Given the description of an element on the screen output the (x, y) to click on. 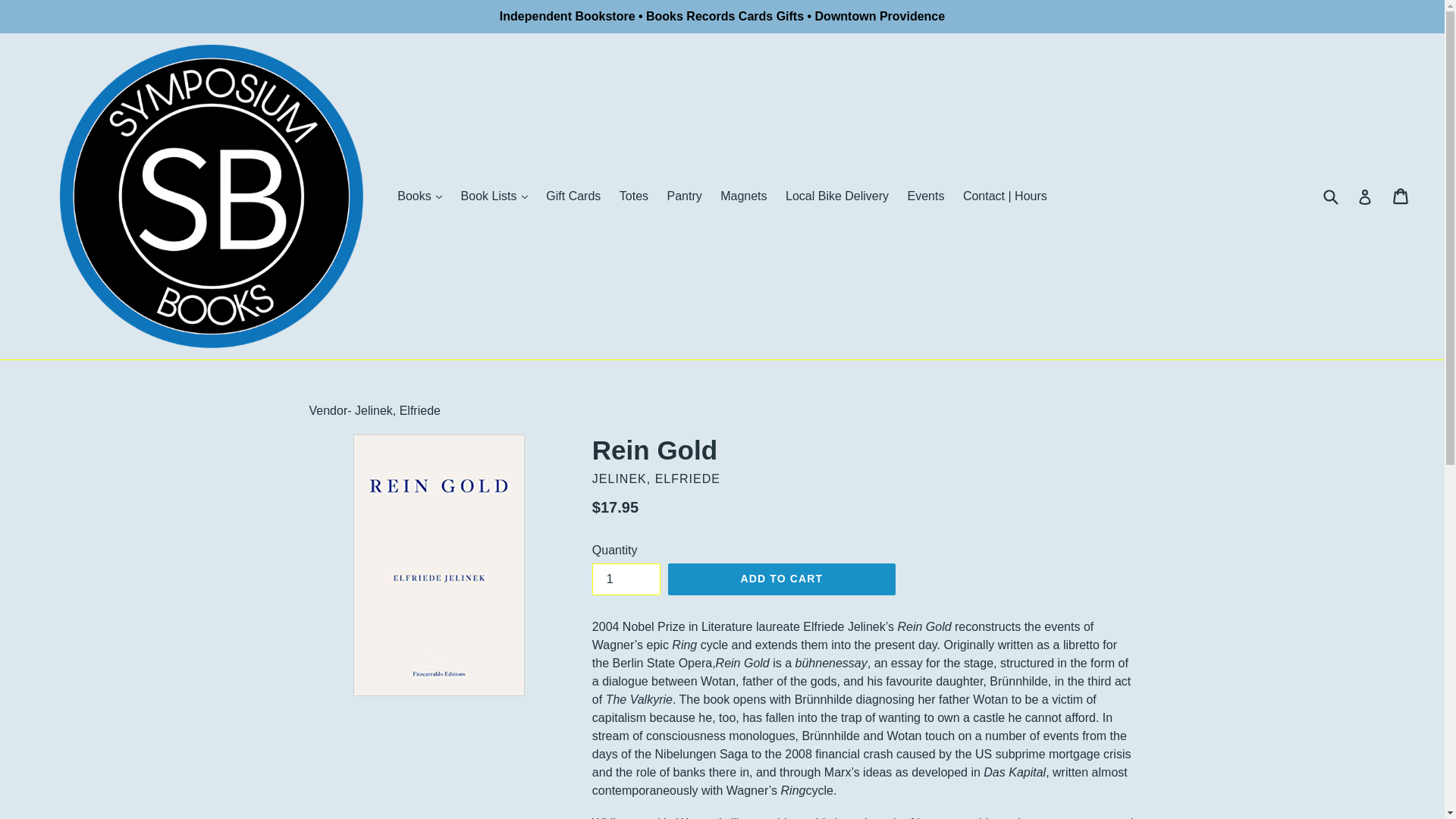
1 (626, 578)
